Given the description of an element on the screen output the (x, y) to click on. 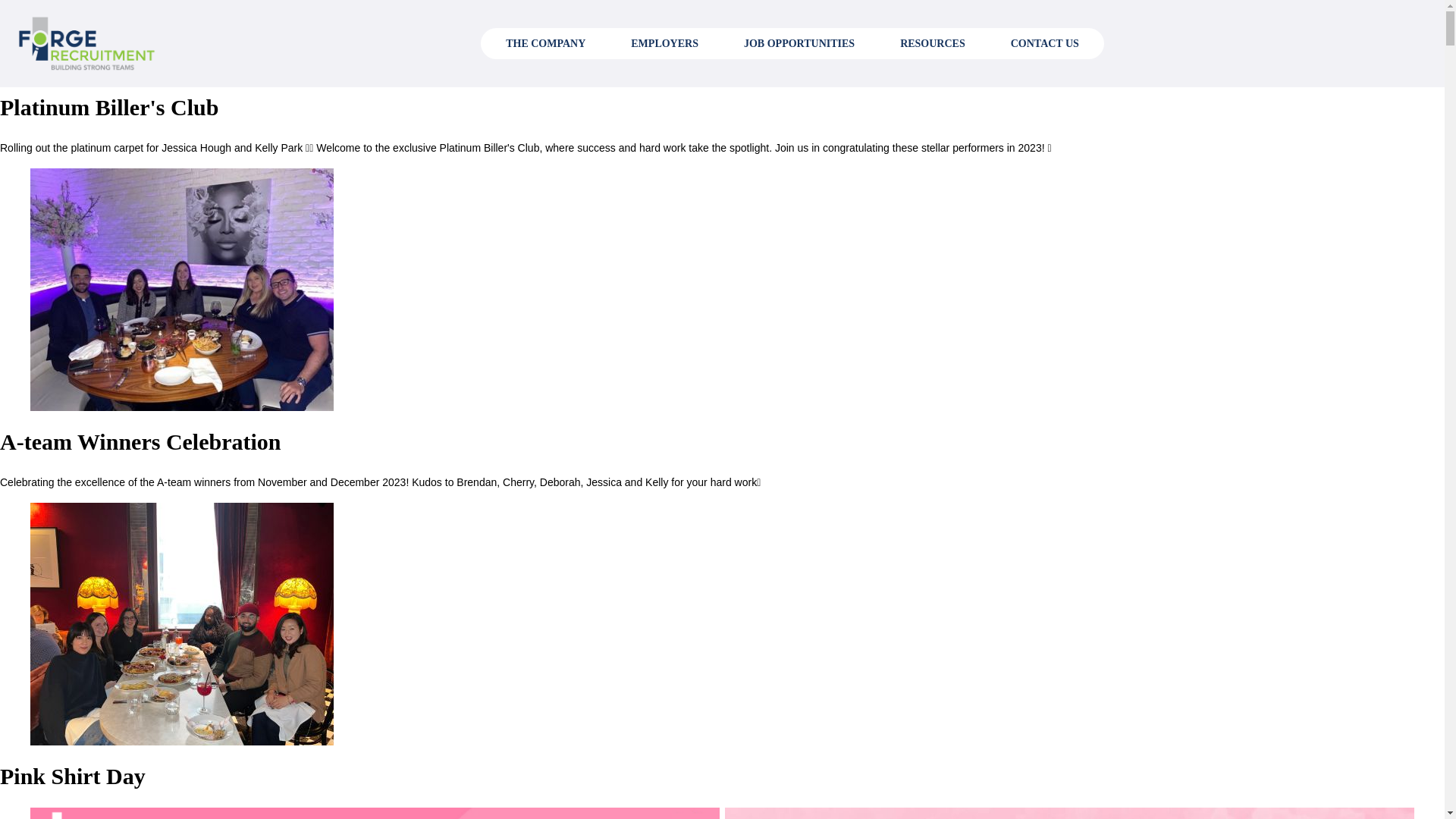
EMPLOYERS (664, 43)
JOB OPPORTUNITIES (798, 43)
CONTACT US (1045, 43)
THE COMPANY (545, 43)
RESOURCES (932, 43)
